Given the description of an element on the screen output the (x, y) to click on. 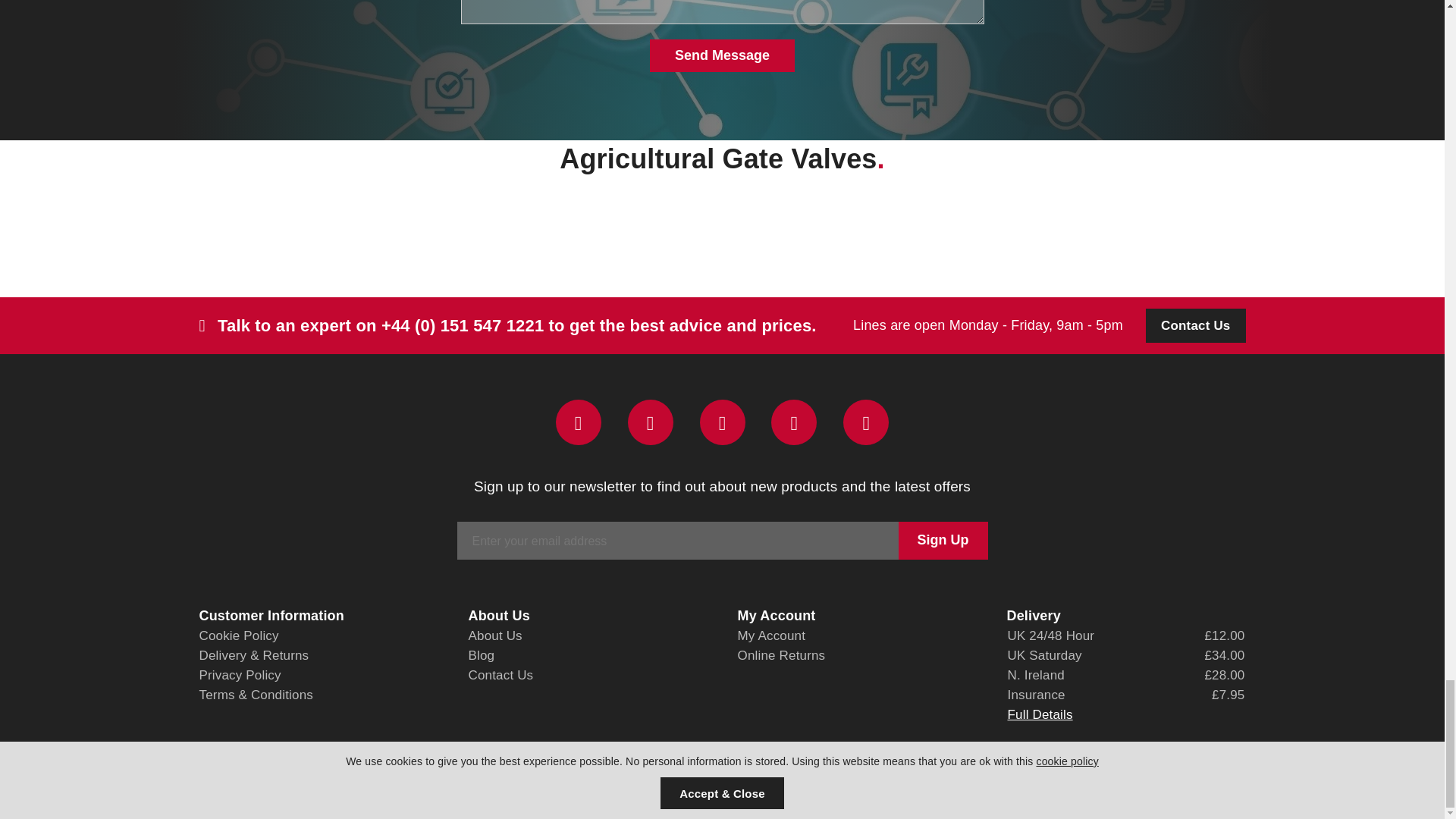
Instagram (793, 422)
Facebook (578, 422)
LinkedIn (721, 422)
PIXUS Web Design (515, 776)
YouTube (865, 422)
Sign Up (942, 540)
Send Message (721, 55)
Twitter (649, 422)
